Given the description of an element on the screen output the (x, y) to click on. 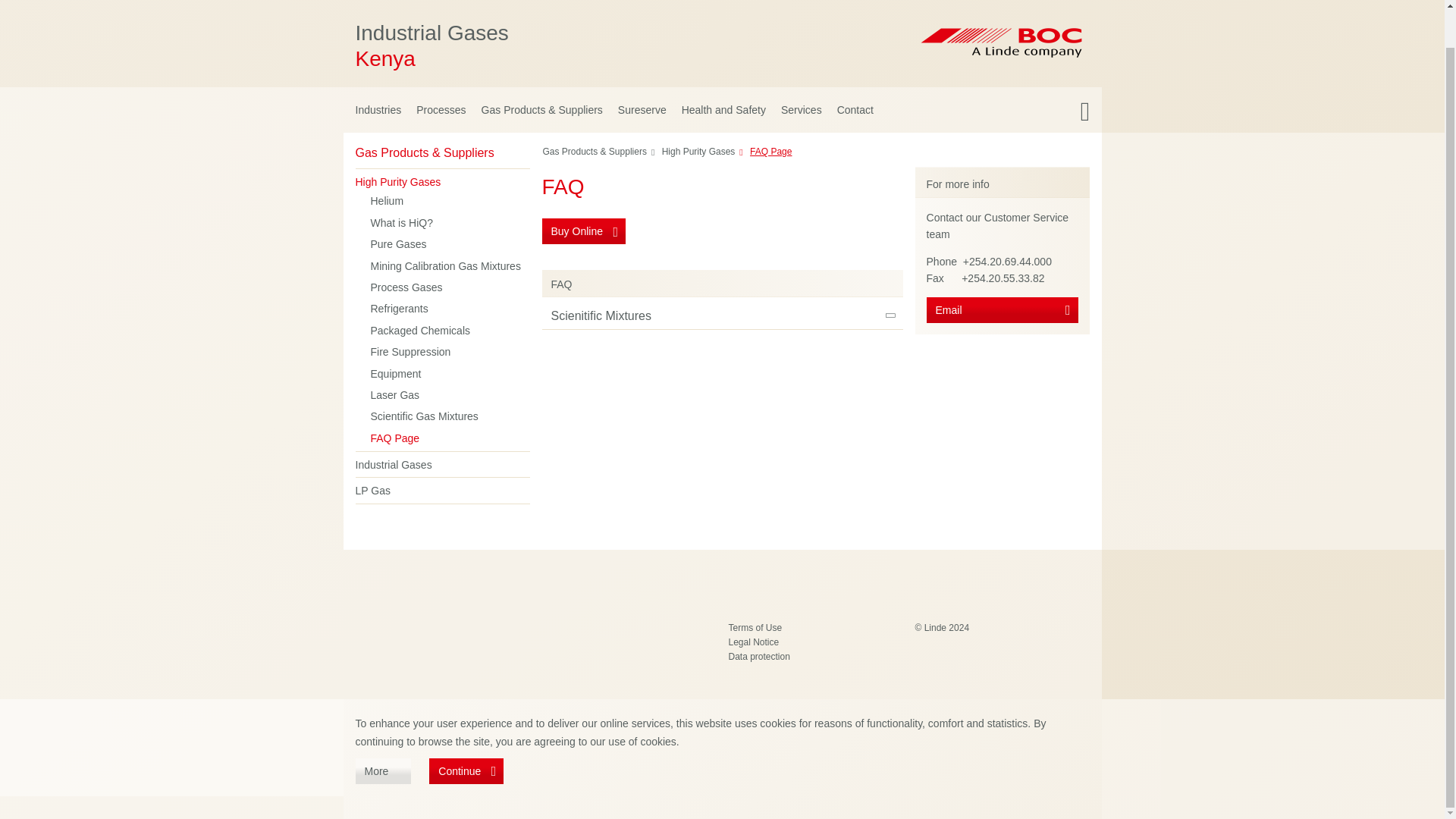
Industries (574, 45)
Industries (375, 109)
Processes (721, 155)
